Given the description of an element on the screen output the (x, y) to click on. 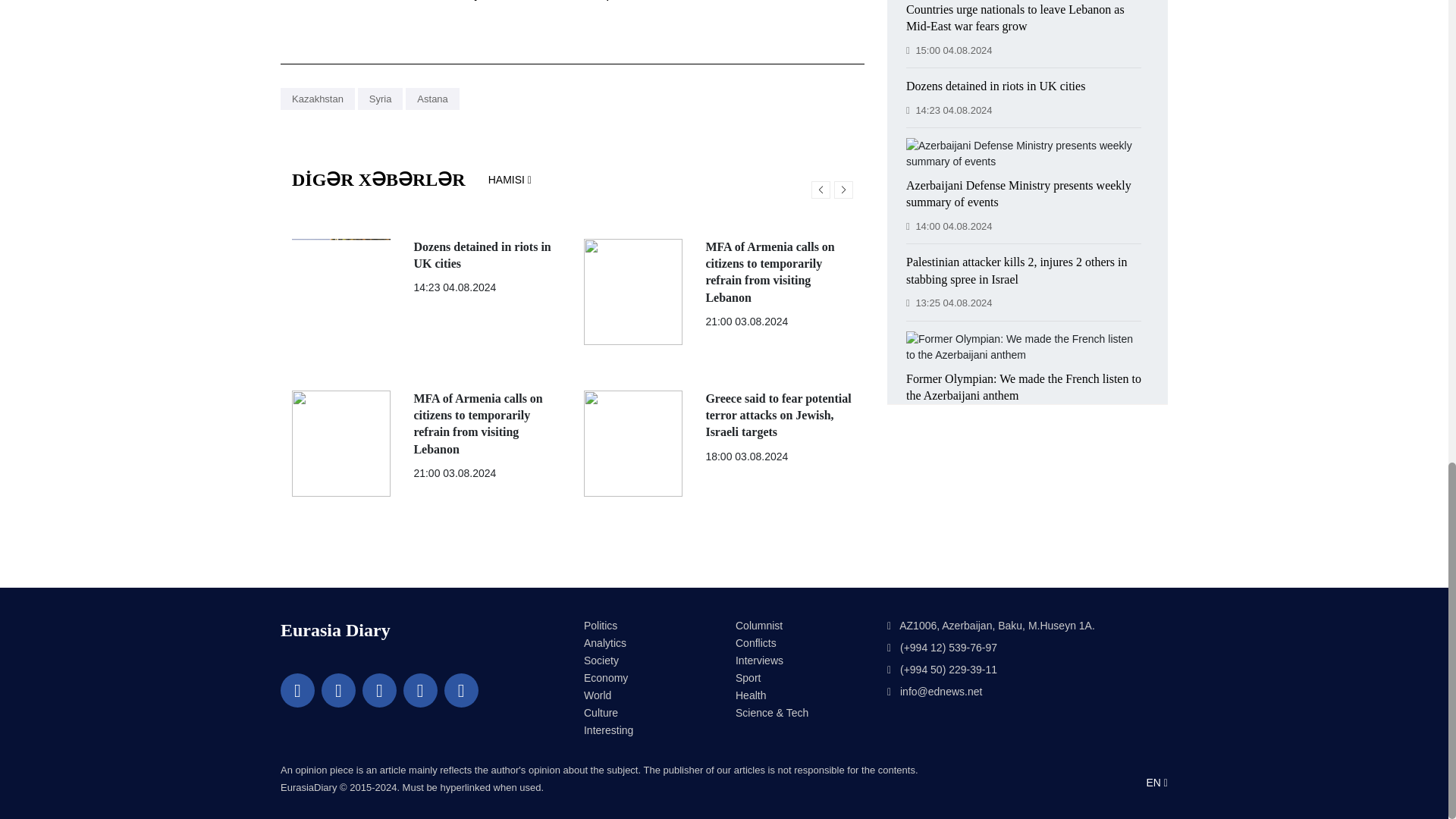
LiveInternet: number of visitors for today is shown (579, 787)
Kazakhstan (318, 98)
Syria (380, 98)
HAMISI (509, 179)
Astana (432, 98)
